Given the description of an element on the screen output the (x, y) to click on. 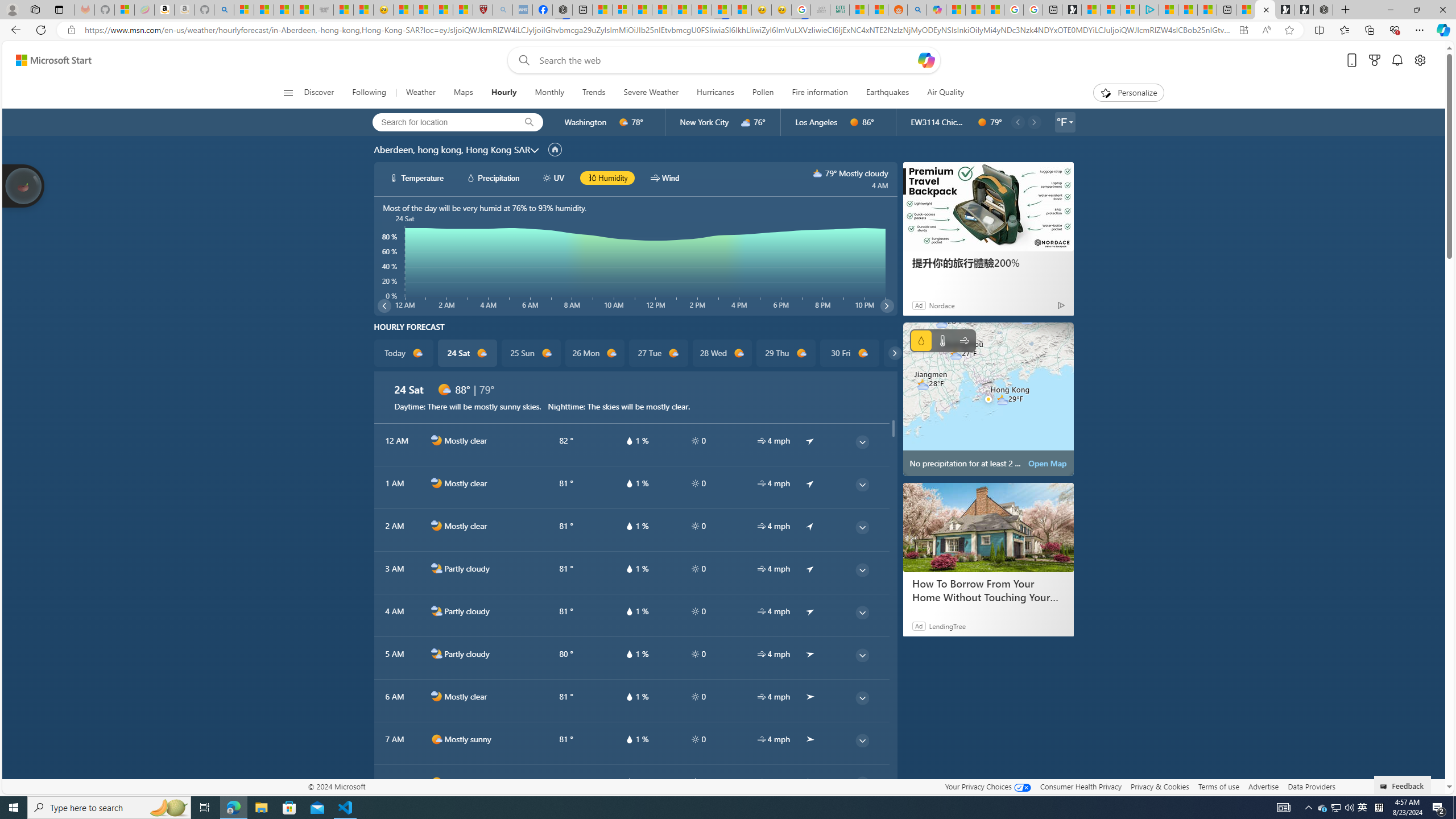
30 Fri d1000 (849, 352)
Fire information (819, 92)
Join us in planting real trees to help our planet! (23, 185)
Data Providers (1311, 785)
common/arrow (810, 782)
Aberdeen, hong kong, Hong Kong SAR (451, 149)
